Given the description of an element on the screen output the (x, y) to click on. 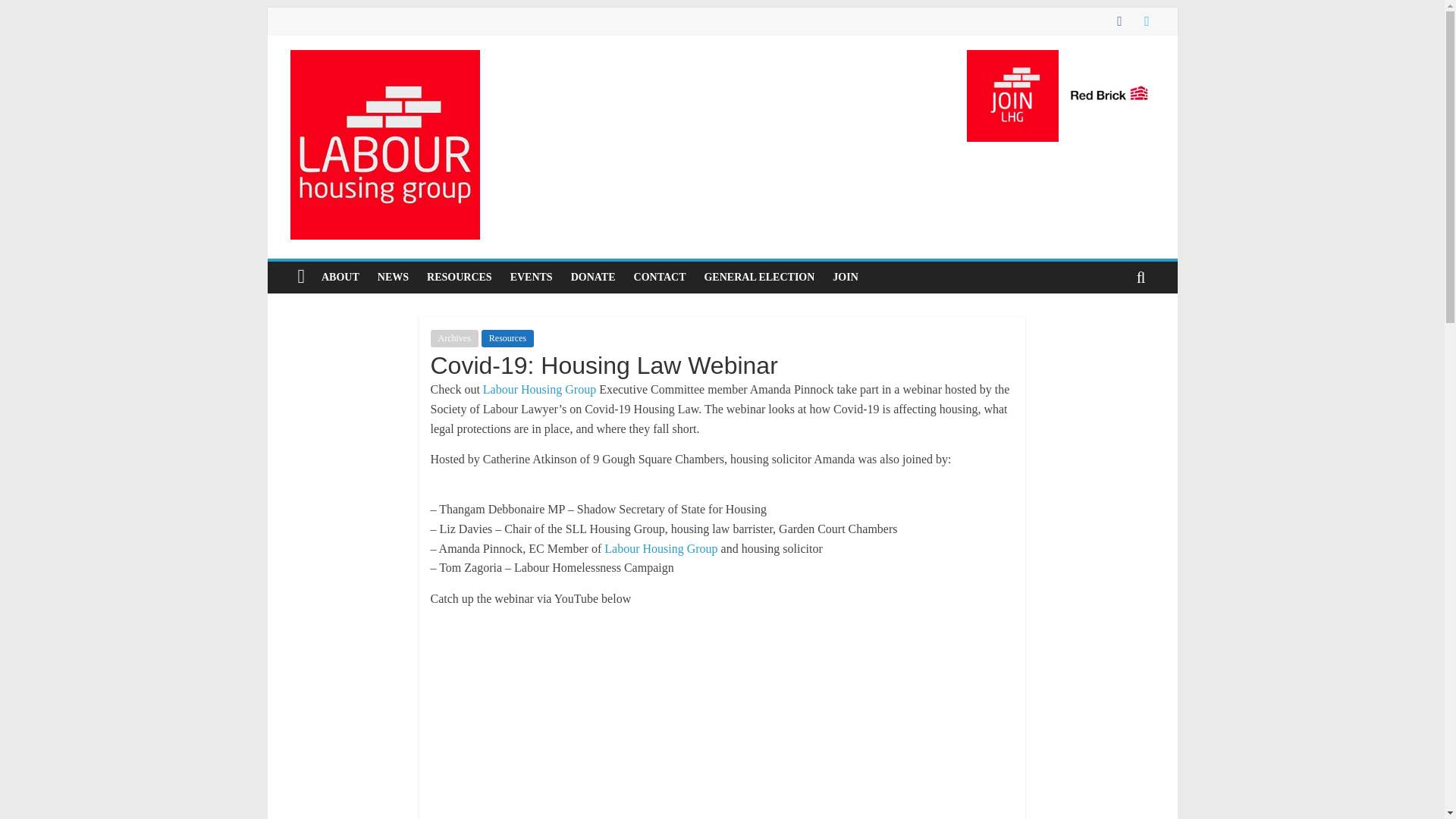
Resources (507, 338)
Archives (454, 338)
Labour Housing Group (539, 389)
ABOUT (340, 277)
CONTACT (659, 277)
RESOURCES (458, 277)
EVENTS (531, 277)
DONATE (593, 277)
JOIN (845, 277)
